Given the description of an element on the screen output the (x, y) to click on. 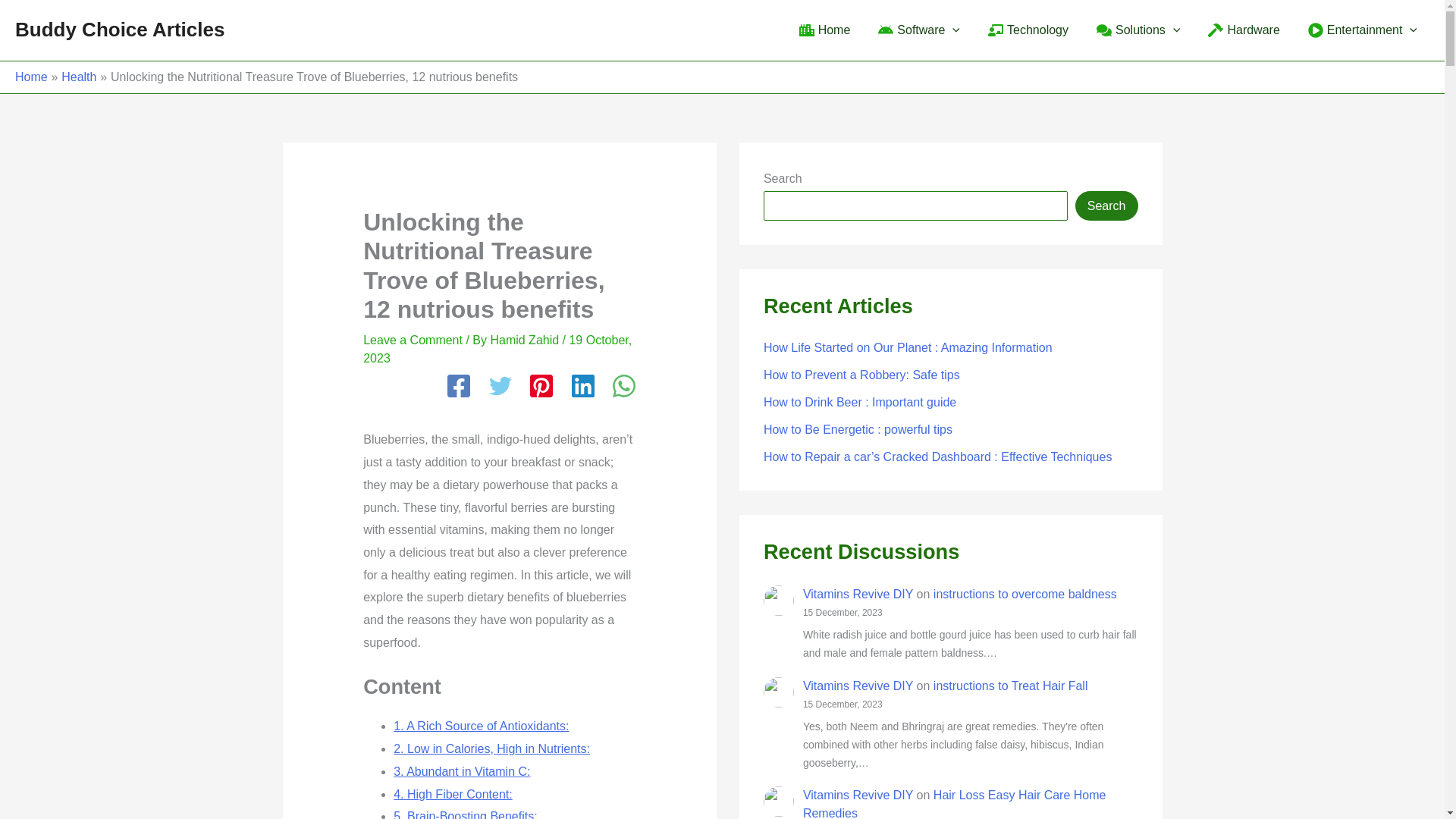
Software (916, 30)
Hardware (1241, 30)
Home (823, 30)
Entertainment (1360, 30)
Technology (1026, 30)
Solutions (1136, 30)
View all posts by Hamid Zahid (525, 339)
Buddy Choice Articles (119, 29)
